Given the description of an element on the screen output the (x, y) to click on. 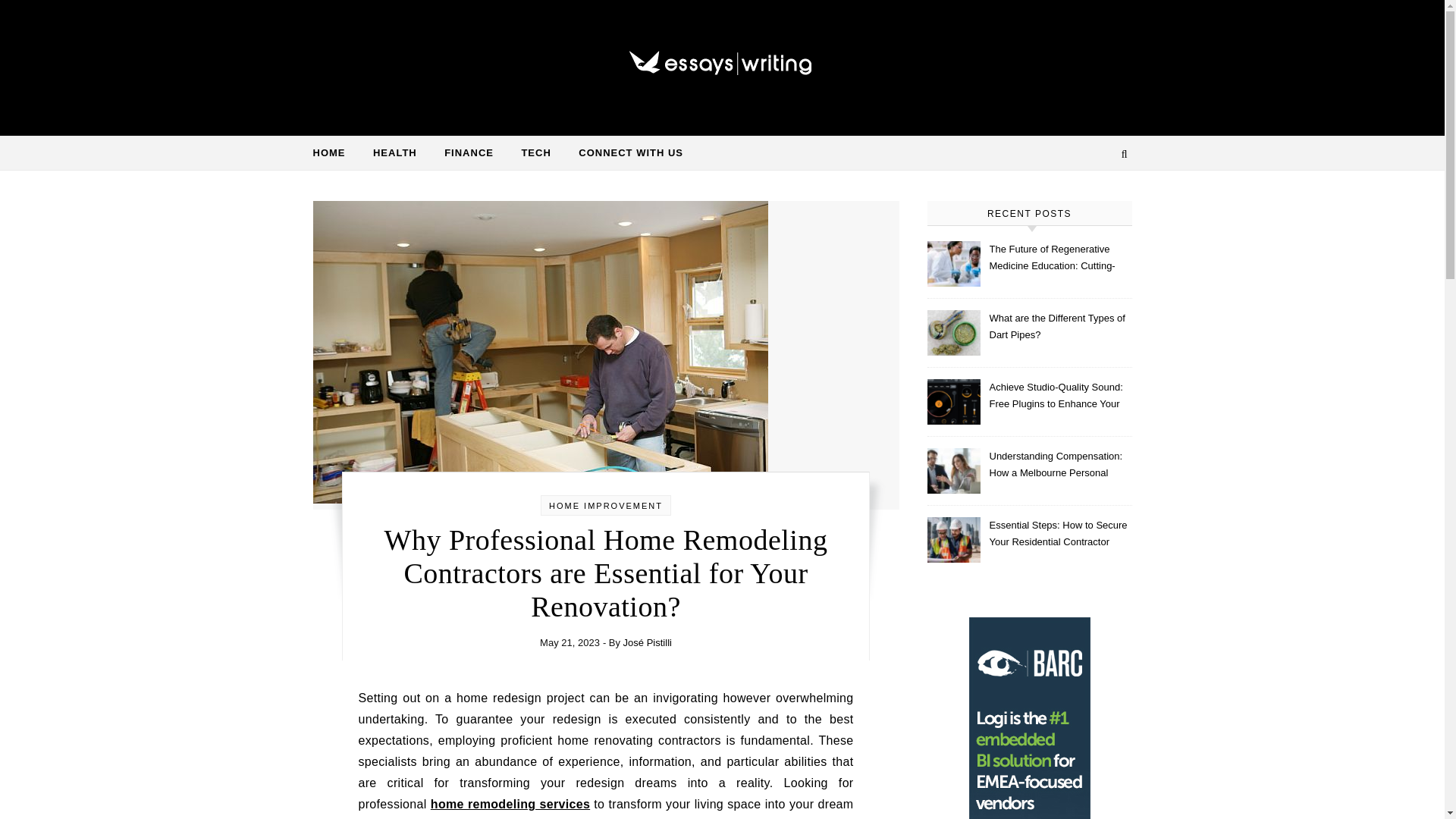
HOME IMPROVEMENT (605, 505)
home remodeling services (509, 803)
TECH (535, 152)
Custom Essays Writing (721, 60)
CONNECT WITH US (624, 152)
HOME (334, 152)
What are the Different Types of Dart Pipes? (1058, 327)
